Given the description of an element on the screen output the (x, y) to click on. 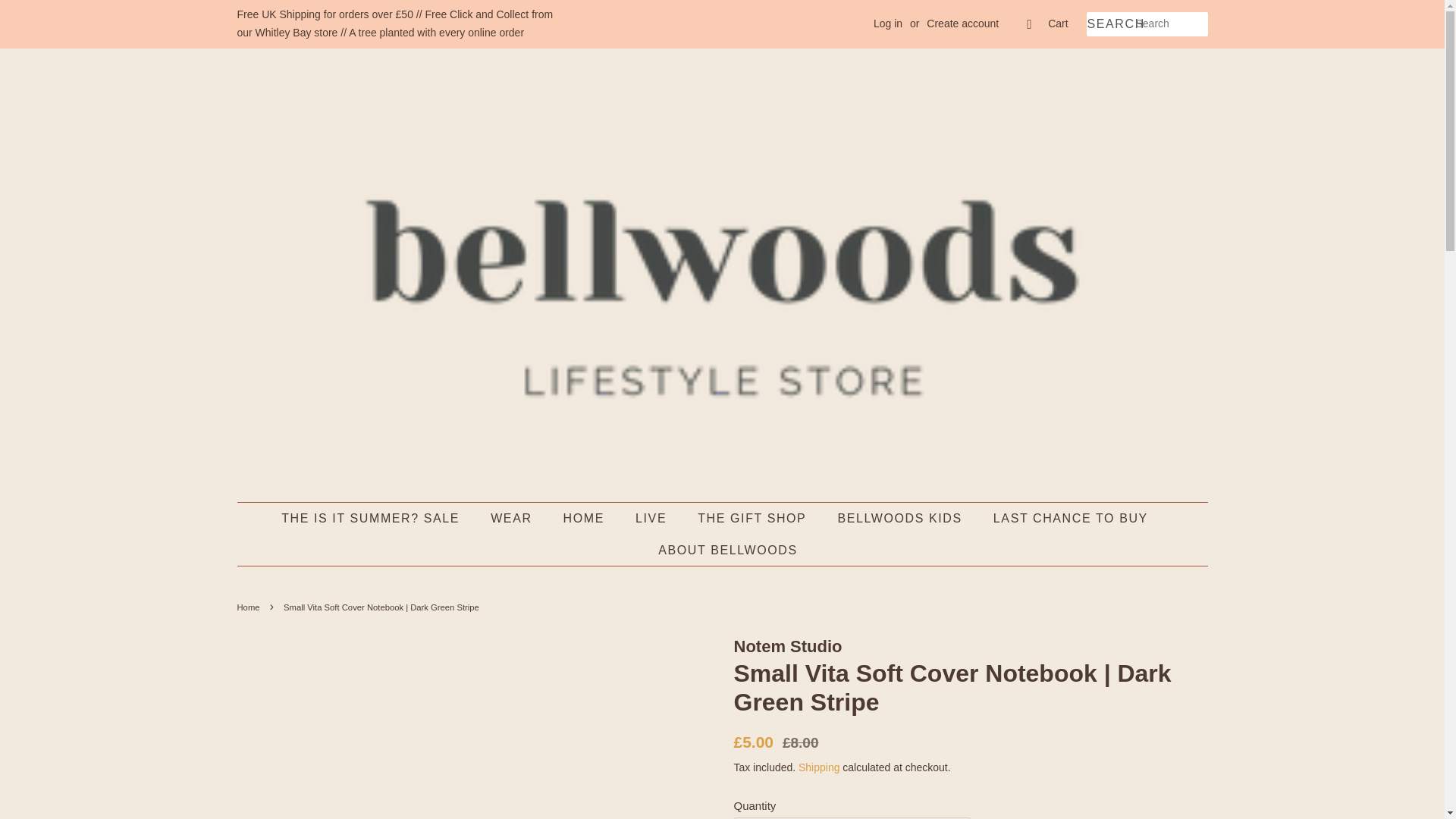
SEARCH (1110, 24)
Cart (1057, 24)
Create account (962, 23)
Back to the frontpage (249, 606)
Log in (887, 23)
